Given the description of an element on the screen output the (x, y) to click on. 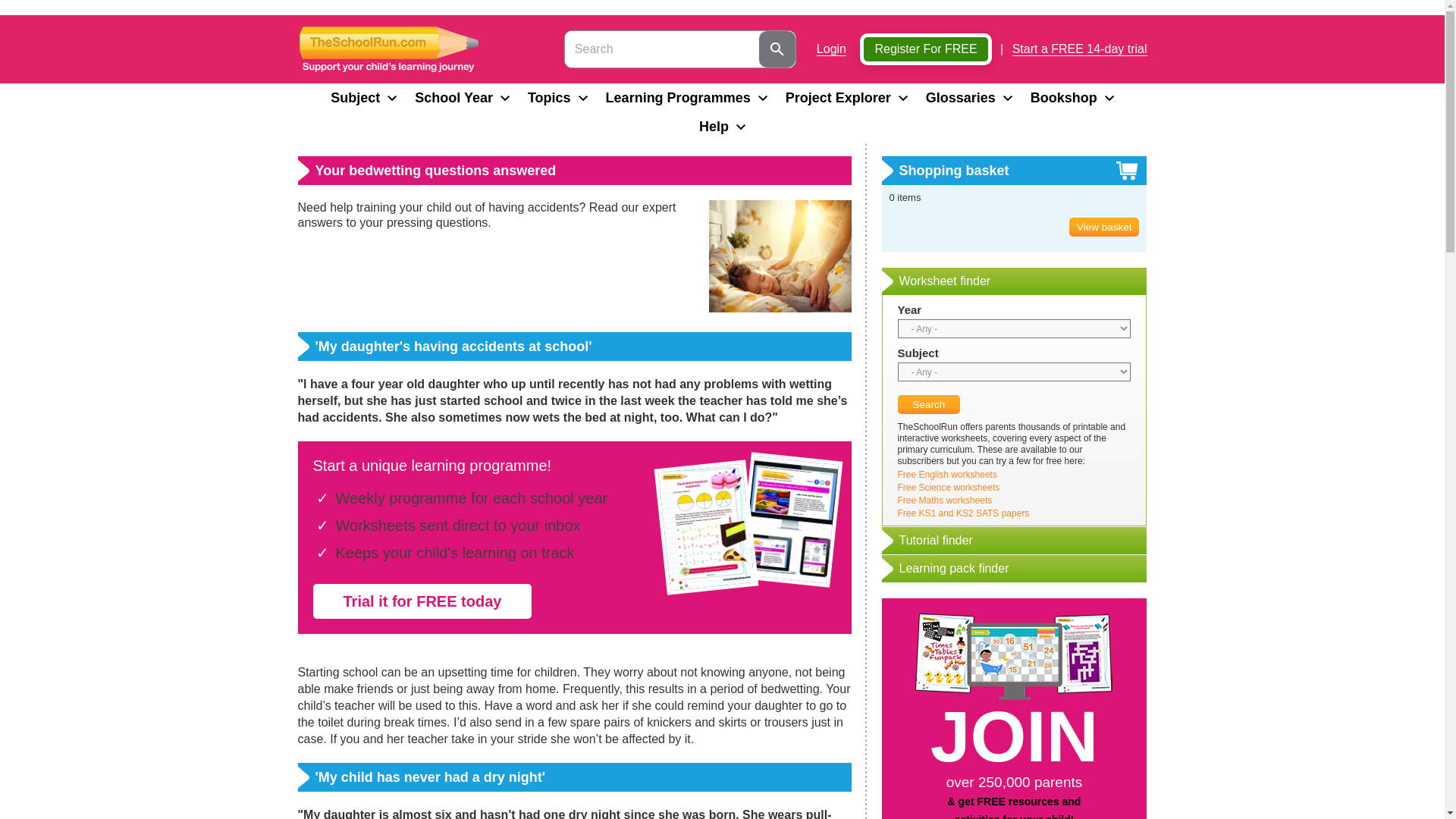
Parent tucking child into bed (778, 255)
Search (929, 404)
Enter the terms you wish to search for. (661, 49)
Search (776, 49)
Login (830, 49)
Search (776, 49)
The School Run (388, 48)
Register For FREE (925, 49)
